Given the description of an element on the screen output the (x, y) to click on. 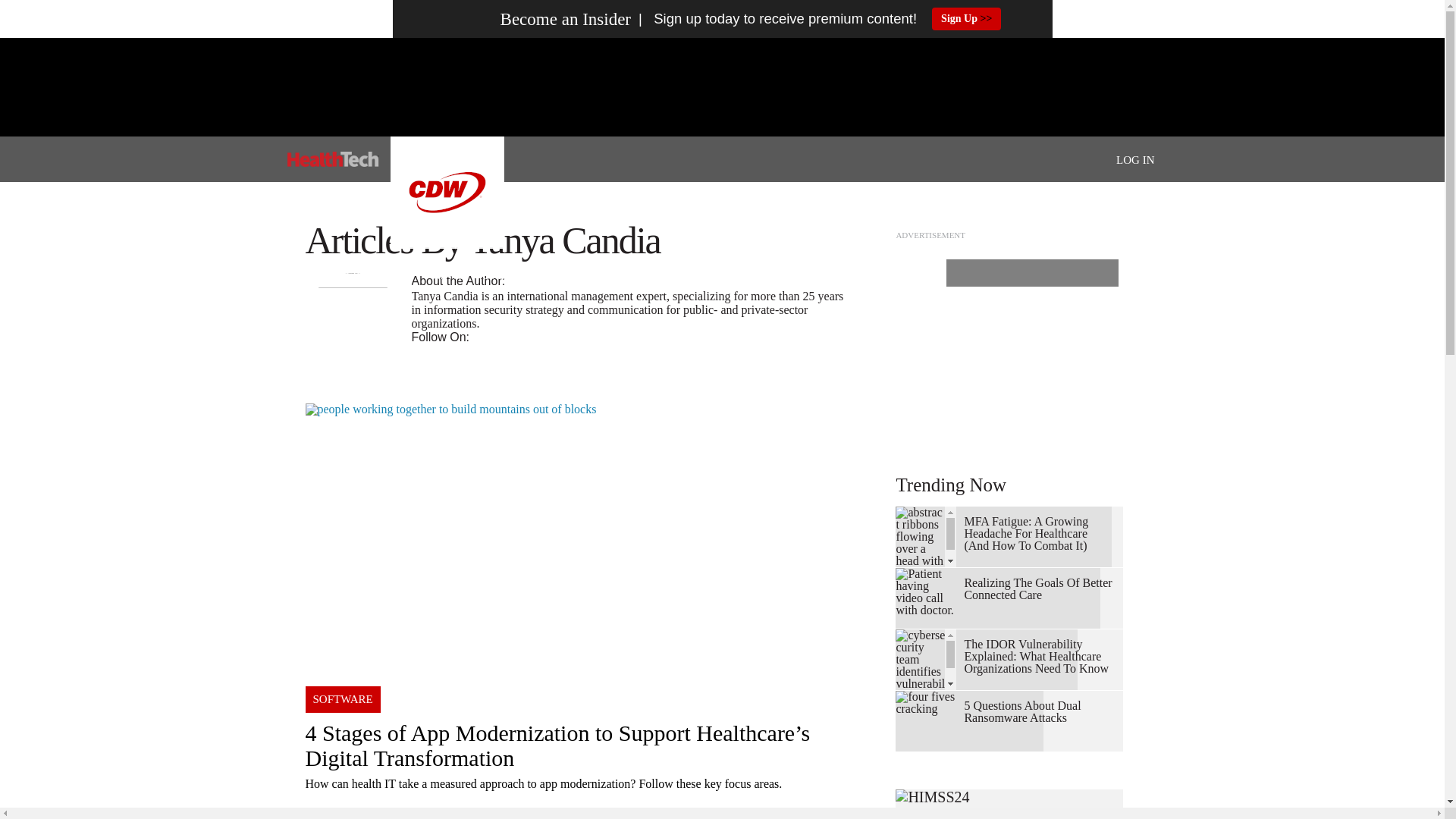
Sign up today to receive premium content! (773, 19)
advertisement (721, 87)
CDW (446, 244)
VIDEO (738, 275)
User menu (1135, 160)
MONITOR (800, 275)
advertisement (1008, 339)
Sign Up (966, 18)
EVENTS (503, 275)
NEWS (447, 275)
Home (332, 158)
FEATURES (673, 275)
LOG IN (1135, 159)
Become an Insider (537, 18)
